Given the description of an element on the screen output the (x, y) to click on. 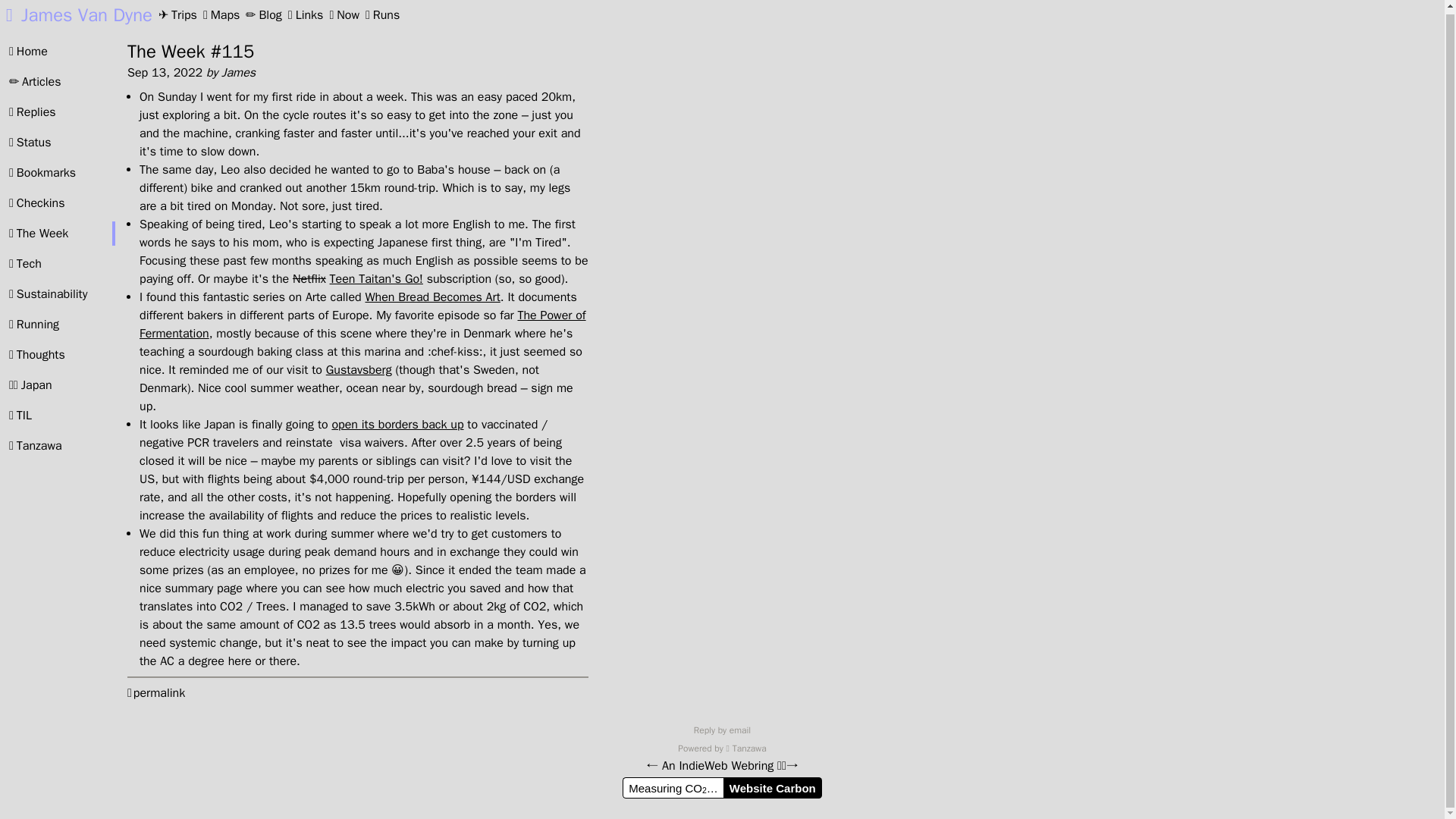
Reply by email (722, 729)
View all posts by James (238, 72)
permalink (156, 693)
